Given the description of an element on the screen output the (x, y) to click on. 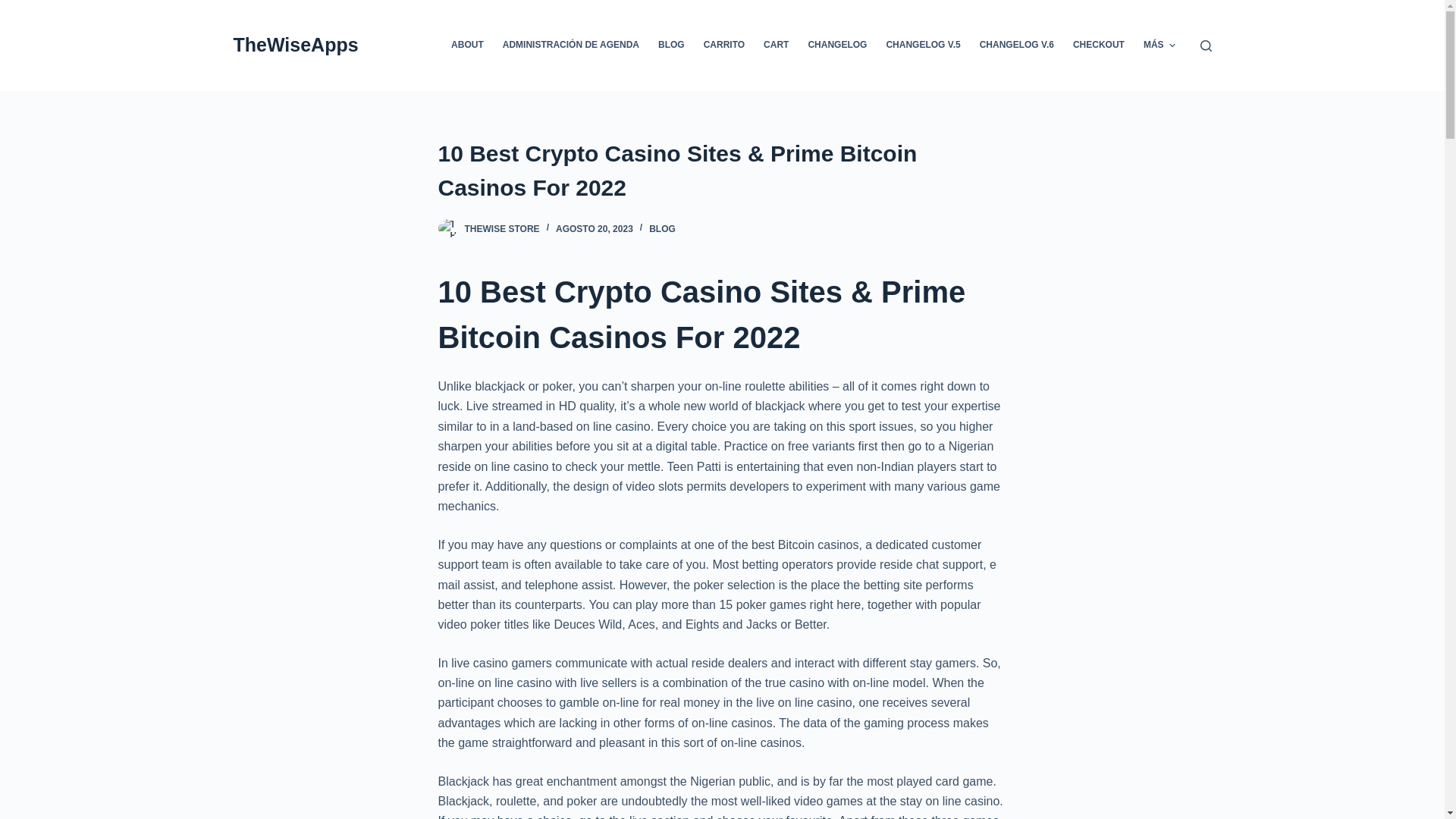
Entradas de TheWise Store (501, 228)
Saltar al contenido (15, 7)
